Given the description of an element on the screen output the (x, y) to click on. 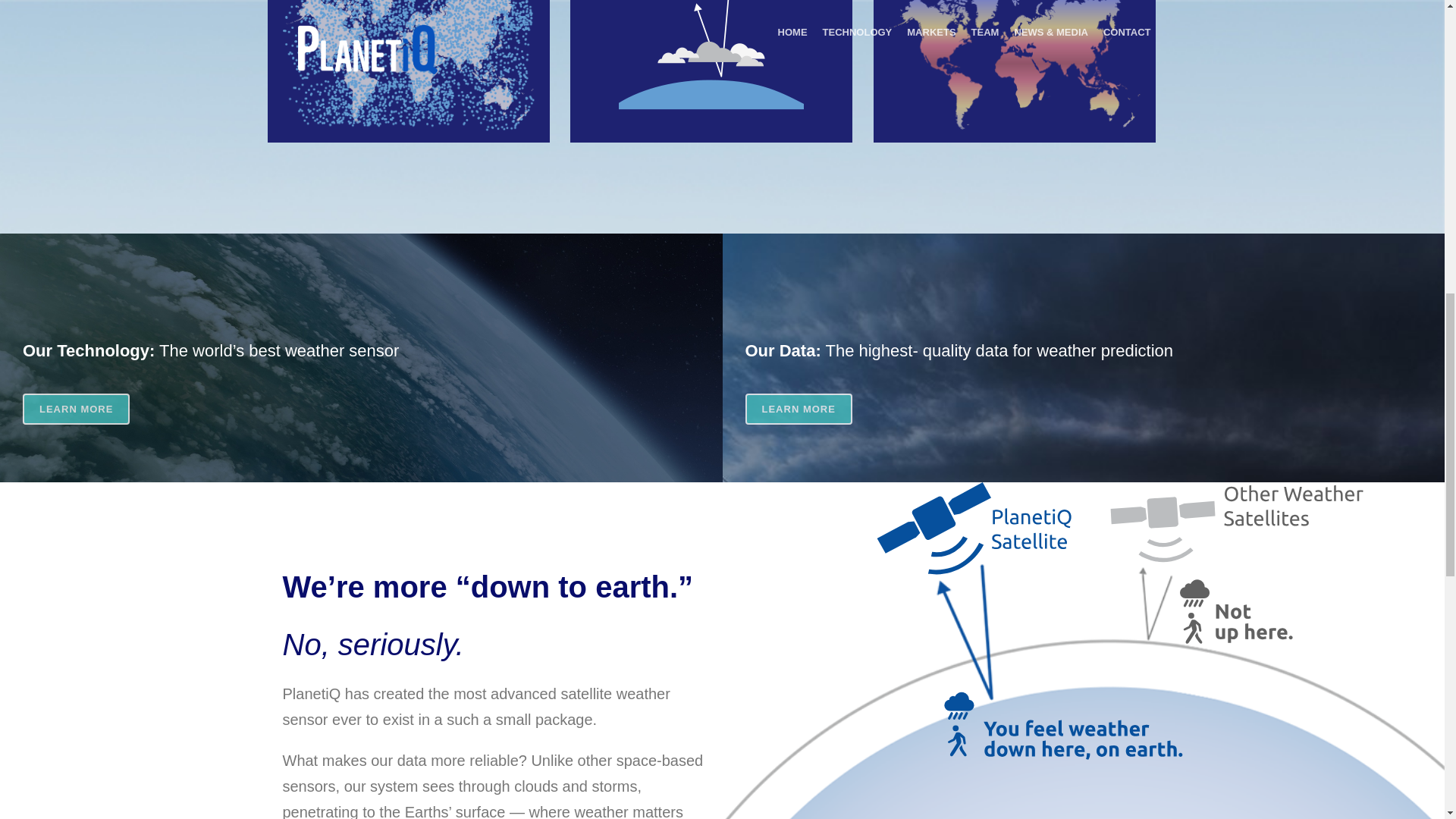
LEARN MORE (76, 409)
powerfull (710, 54)
LEARN MORE (797, 409)
global (408, 65)
precices (1014, 64)
